Given the description of an element on the screen output the (x, y) to click on. 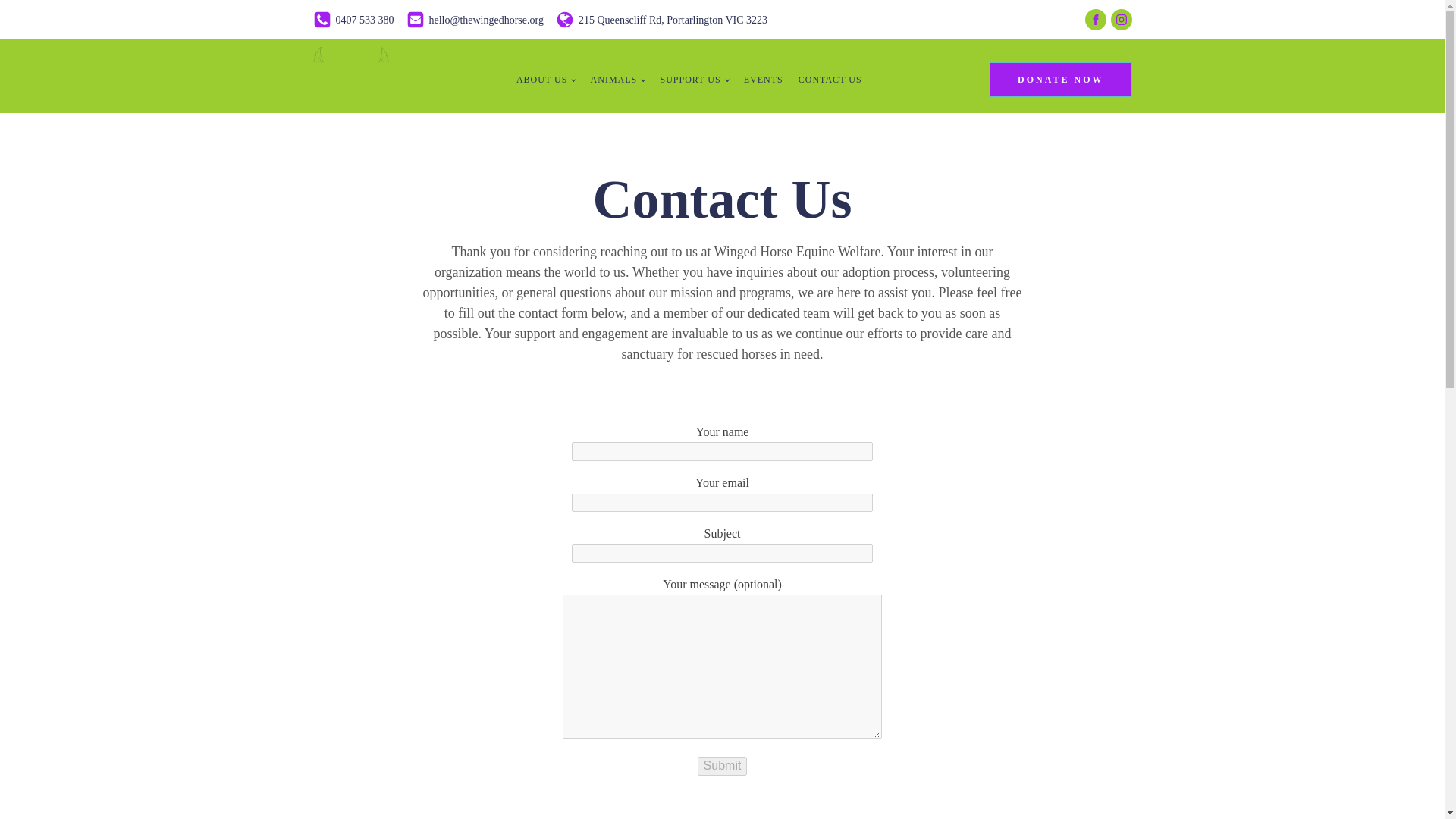
EVENTS (763, 79)
Submit (722, 765)
SUPPORT US (693, 79)
ANIMALS (617, 79)
ABOUT US (545, 79)
CONTACT US (829, 79)
DONATE NOW (1060, 79)
Submit (722, 765)
